Given the description of an element on the screen output the (x, y) to click on. 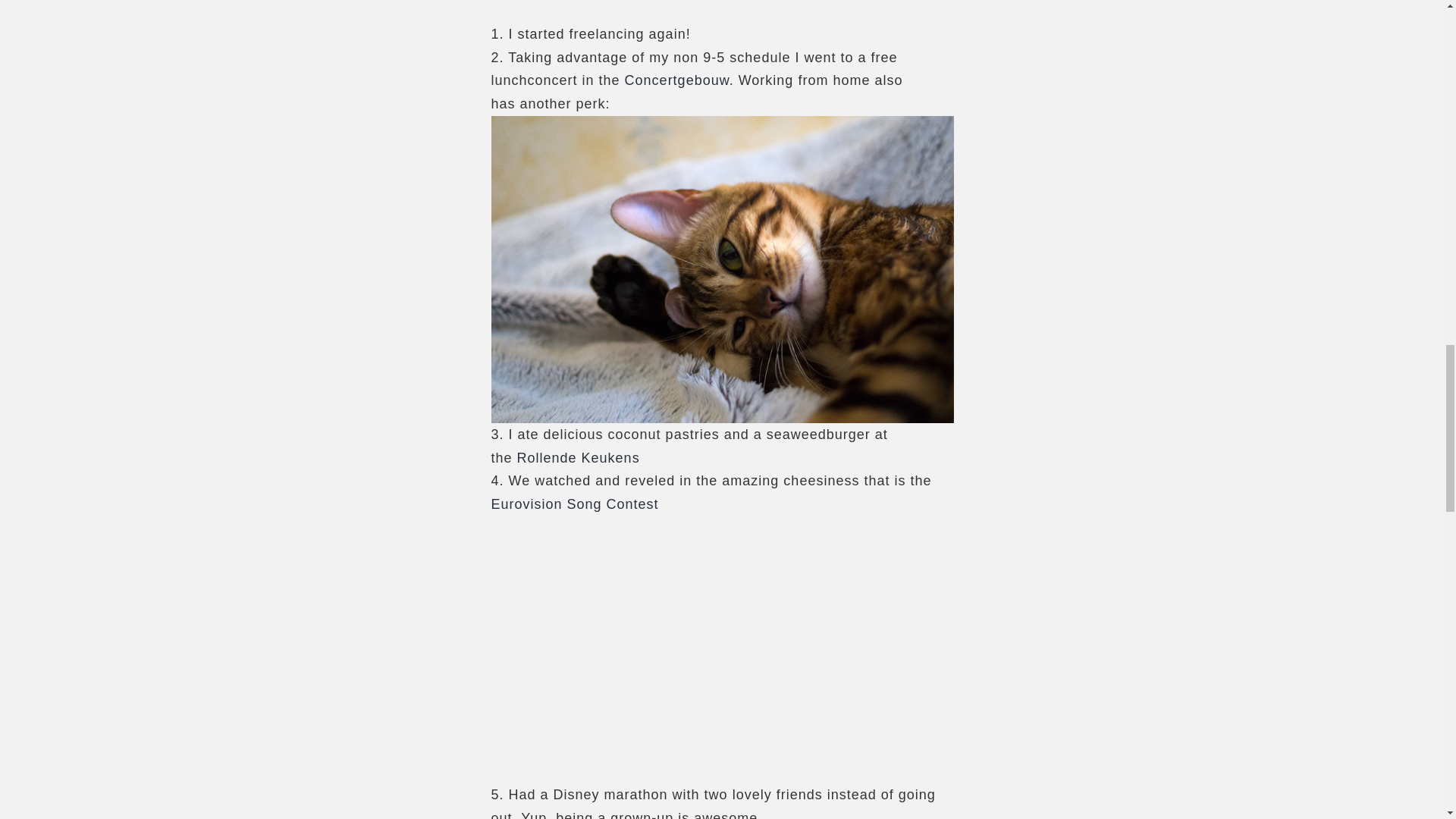
Rollende Keukens (578, 458)
Concertgebouw (676, 79)
Eurovision Song Contest (575, 503)
